Given the description of an element on the screen output the (x, y) to click on. 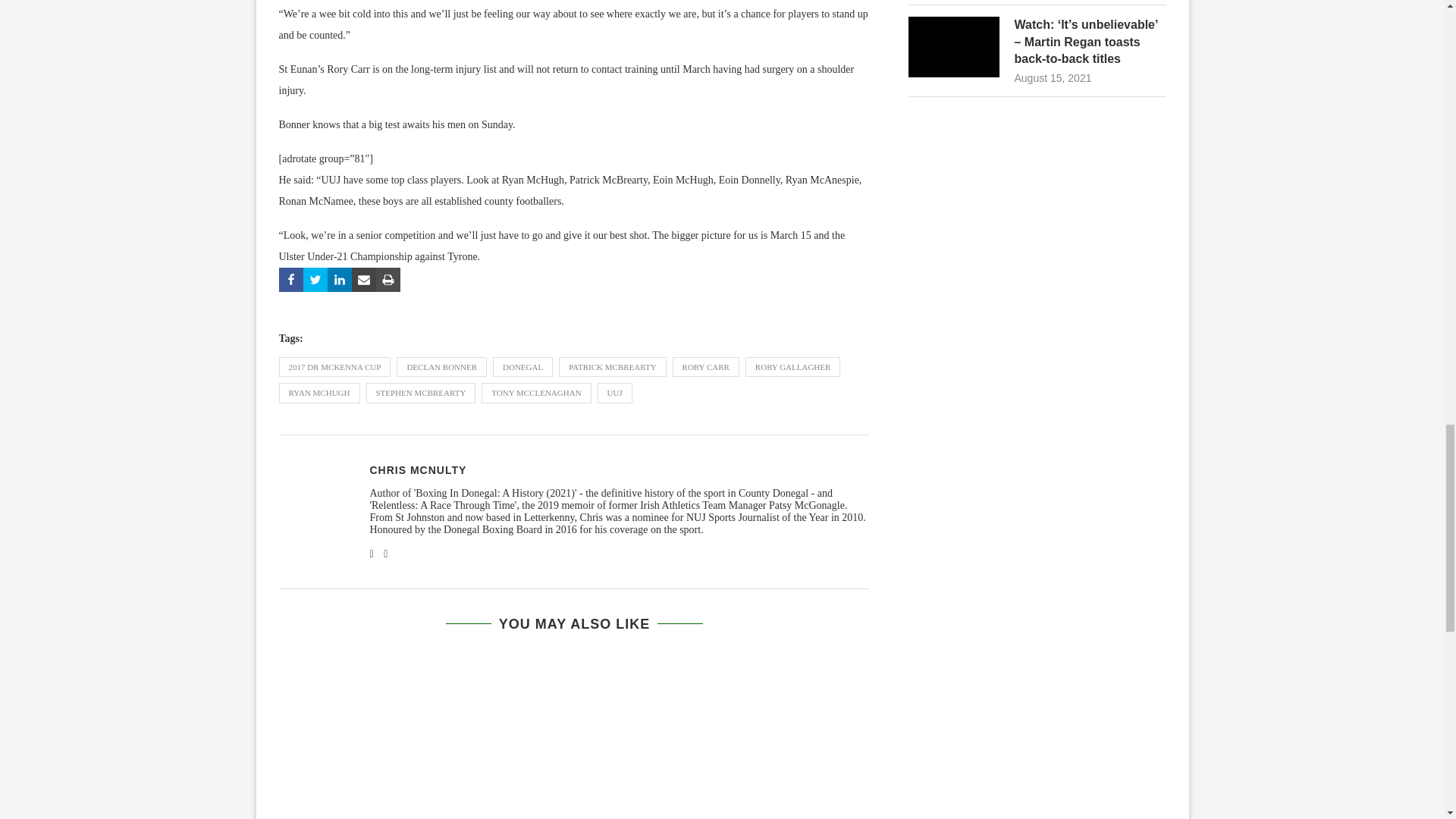
Posts by Chris McNulty (418, 469)
Print this Page (387, 279)
Share on Facebook (290, 279)
Share via Email (363, 279)
Share on LinkedIn (339, 279)
Share on Twitter (314, 279)
